Given the description of an element on the screen output the (x, y) to click on. 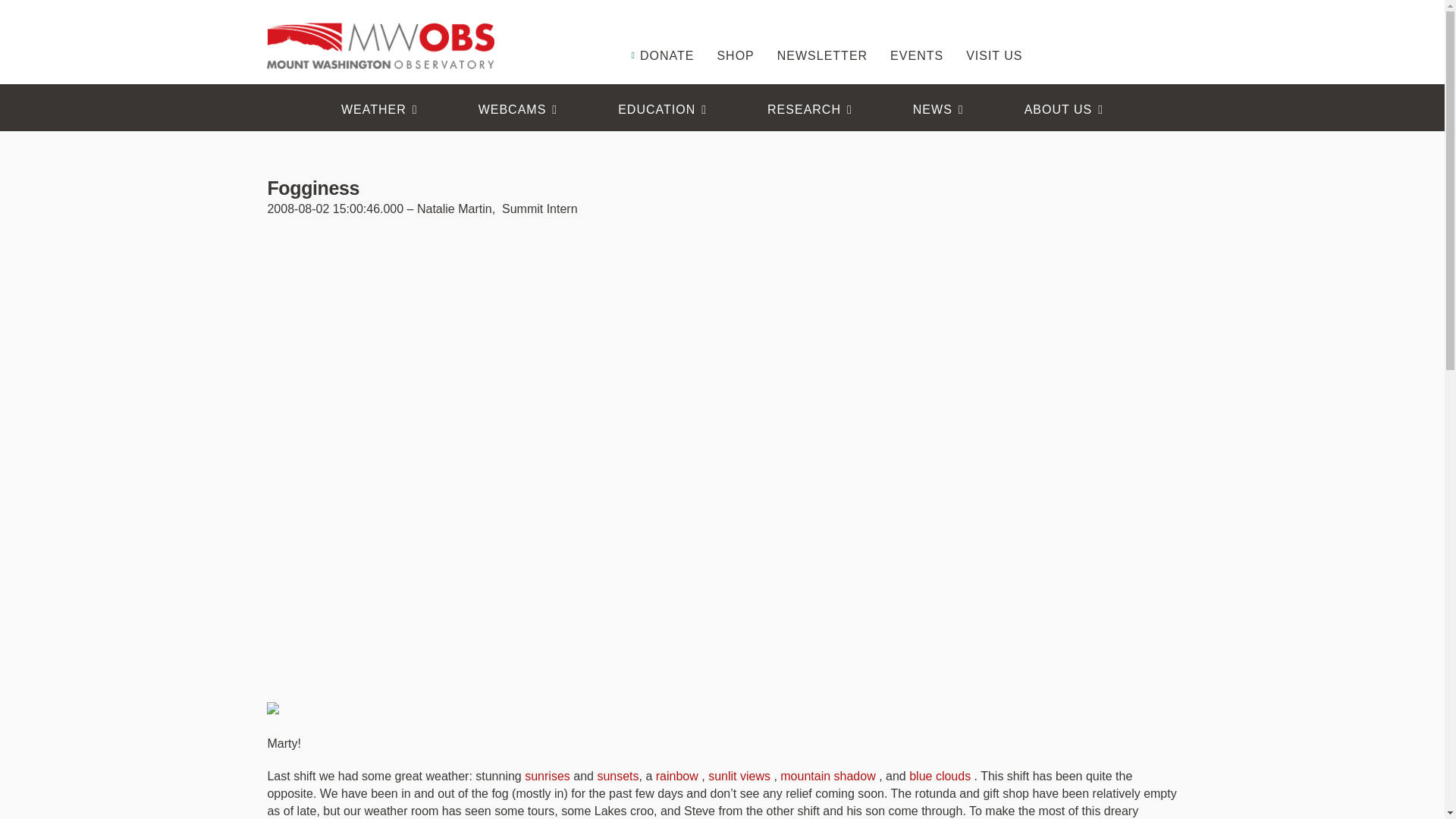
DONATE (660, 33)
WEATHER (379, 109)
WEBCAMS (518, 109)
NEWSLETTER (822, 33)
EDUCATION (662, 109)
